Given the description of an element on the screen output the (x, y) to click on. 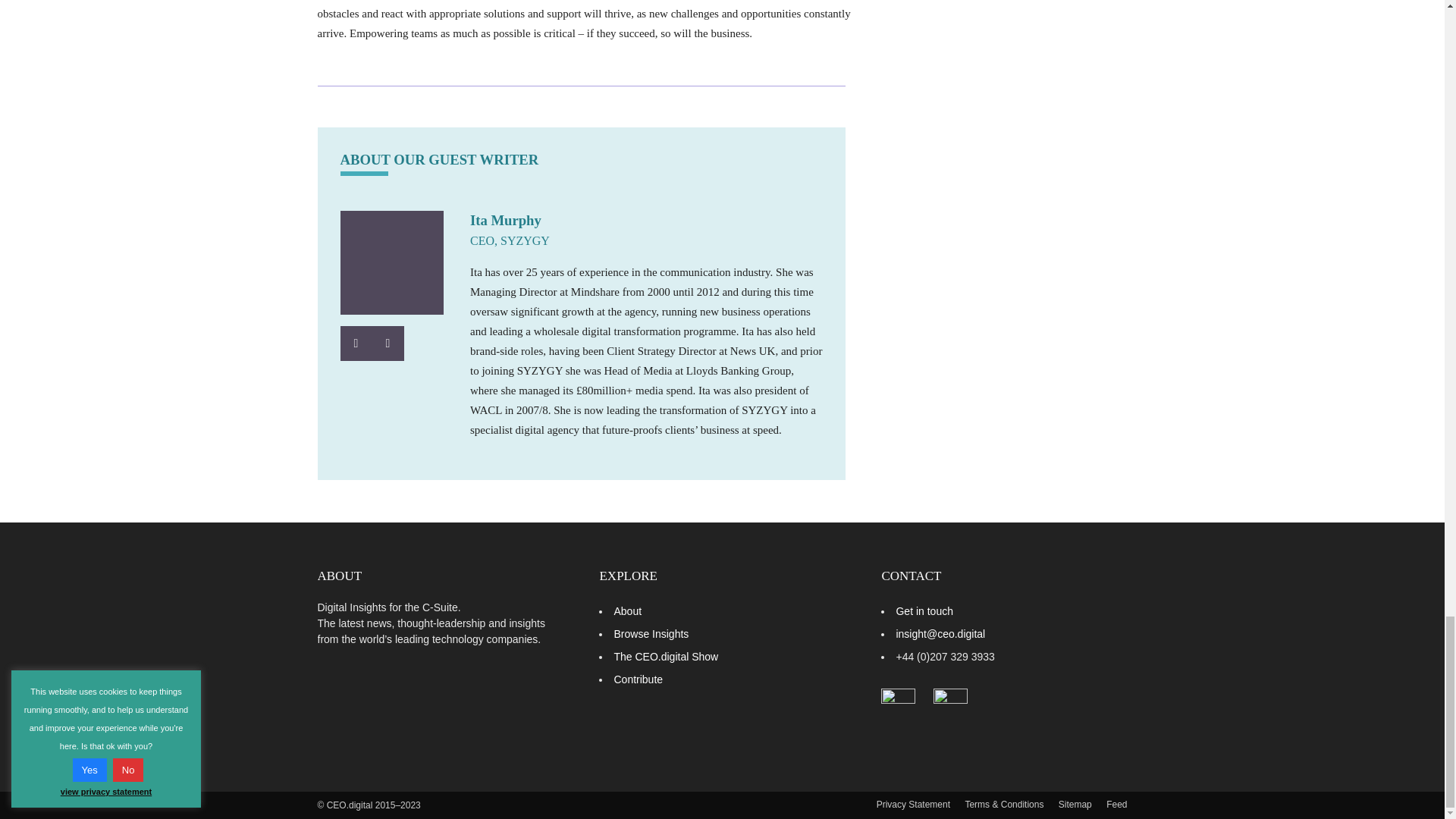
Visit the SYZYGY website (387, 343)
Connect with Ita Murphy on LinkedIn (355, 343)
